Given the description of an element on the screen output the (x, y) to click on. 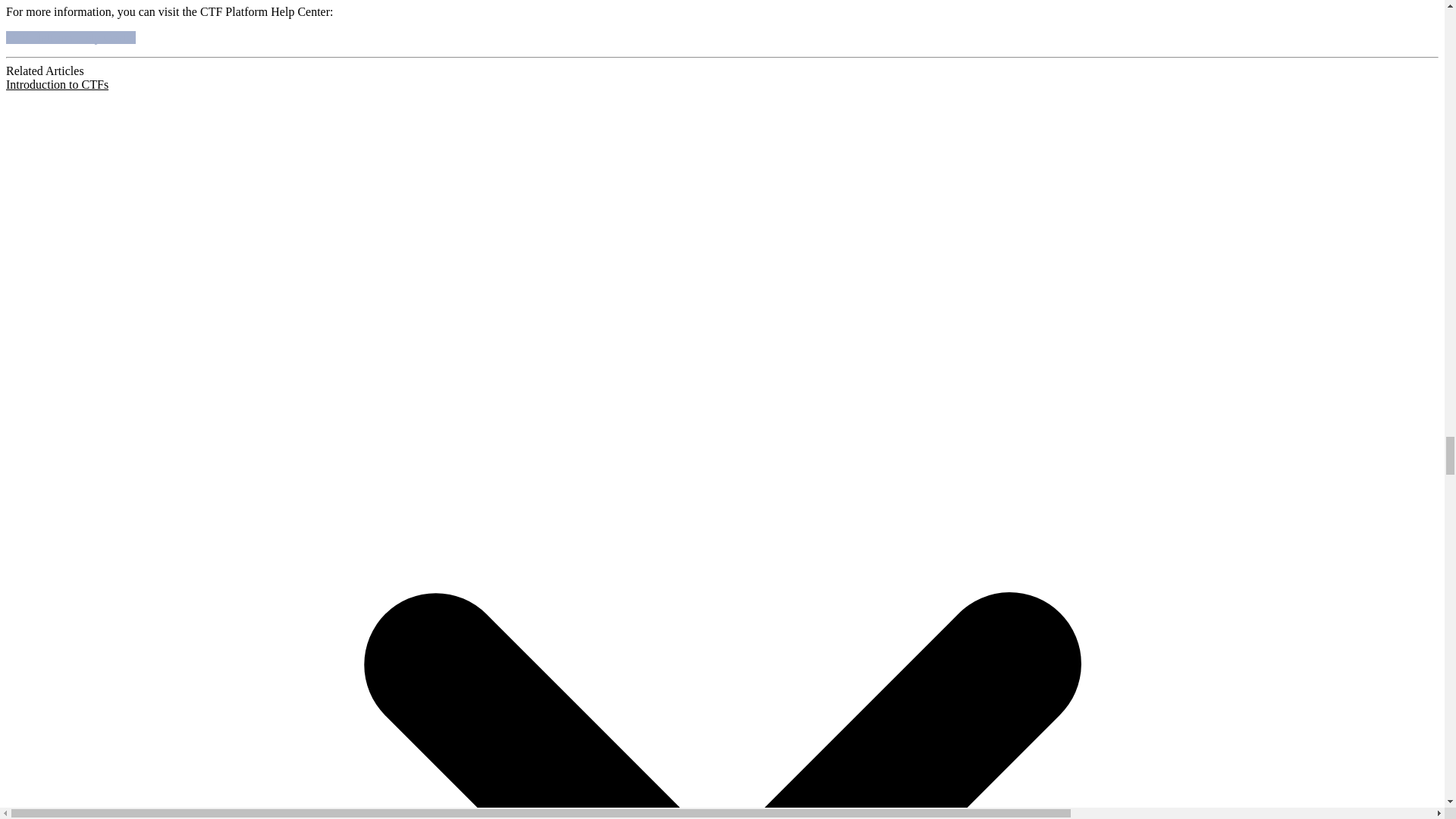
CTF Platform Help Center (70, 37)
